Given the description of an element on the screen output the (x, y) to click on. 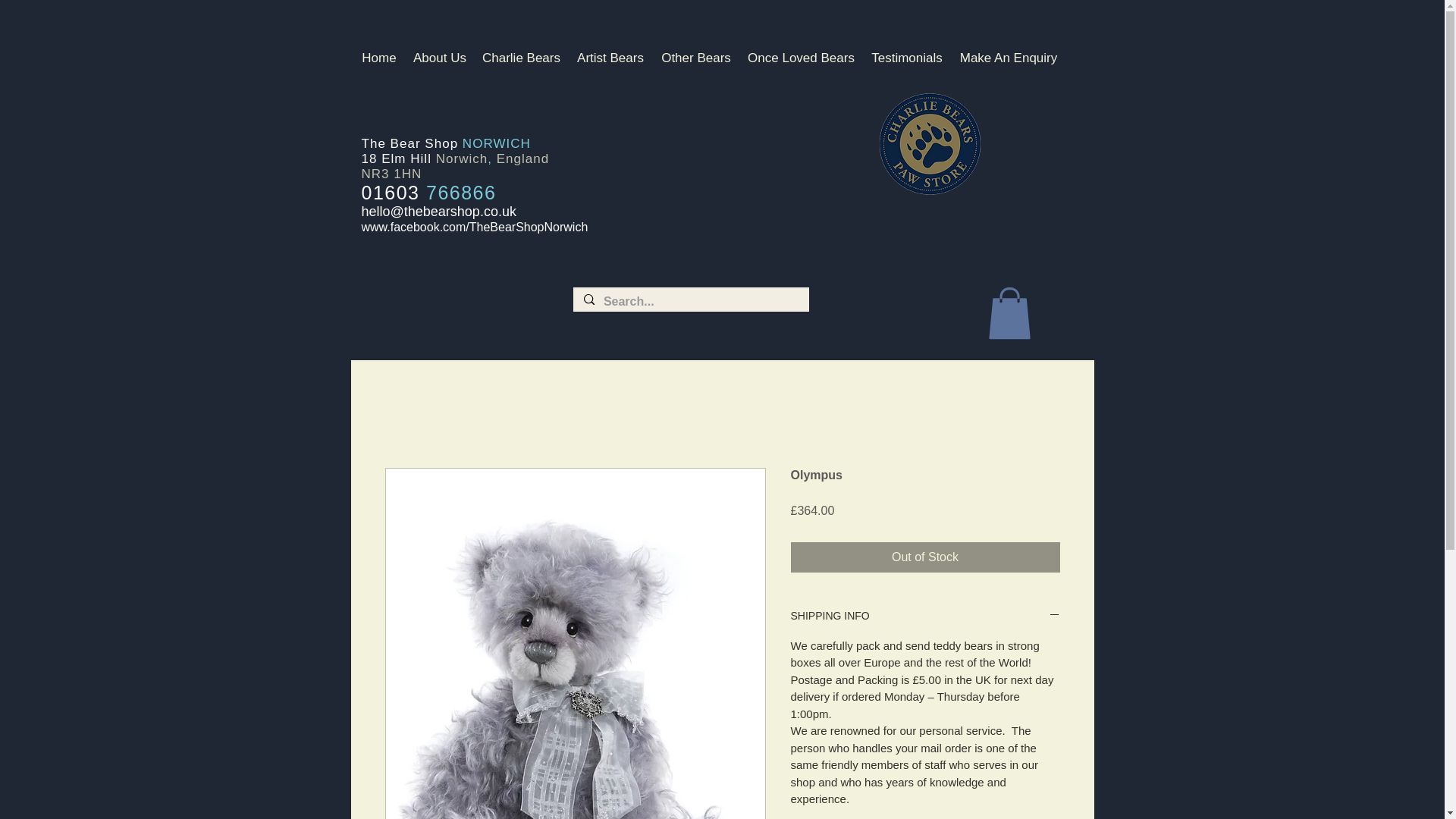
Other Bears (695, 58)
Testimonials (907, 58)
Make An Enquiry (1007, 58)
Artist Bears (610, 58)
NORWICH (497, 143)
Home (379, 58)
About Us (439, 58)
Once Loved Bears (801, 58)
The Bear Shop  (411, 143)
